Given the description of an element on the screen output the (x, y) to click on. 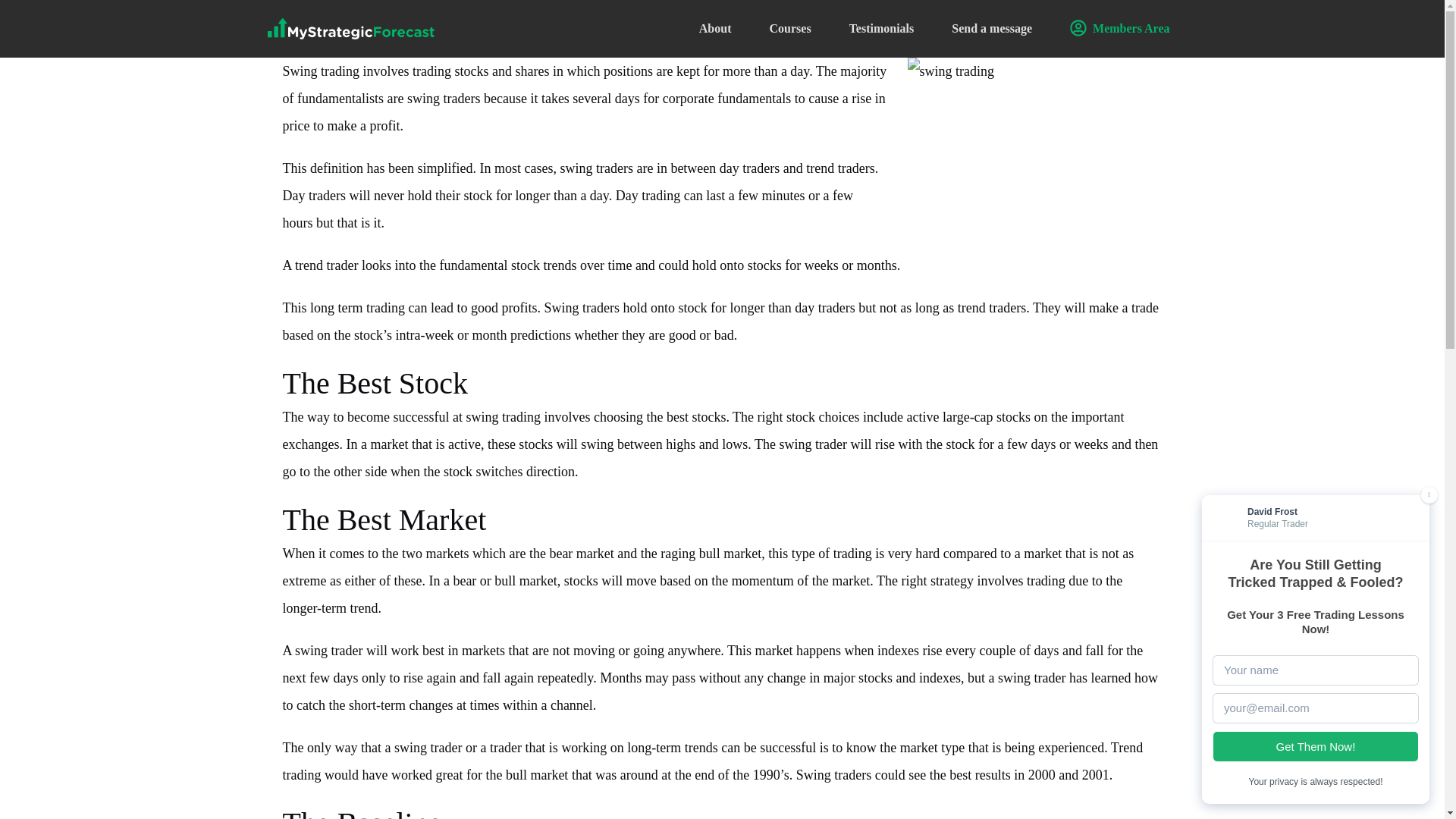
Get Them Now! (1315, 747)
Courses (789, 28)
Members Area (1119, 28)
Testimonials (881, 28)
Swing trading (320, 70)
About (715, 28)
best stocks (696, 417)
swing trading (502, 417)
Send a message (992, 28)
